Given the description of an element on the screen output the (x, y) to click on. 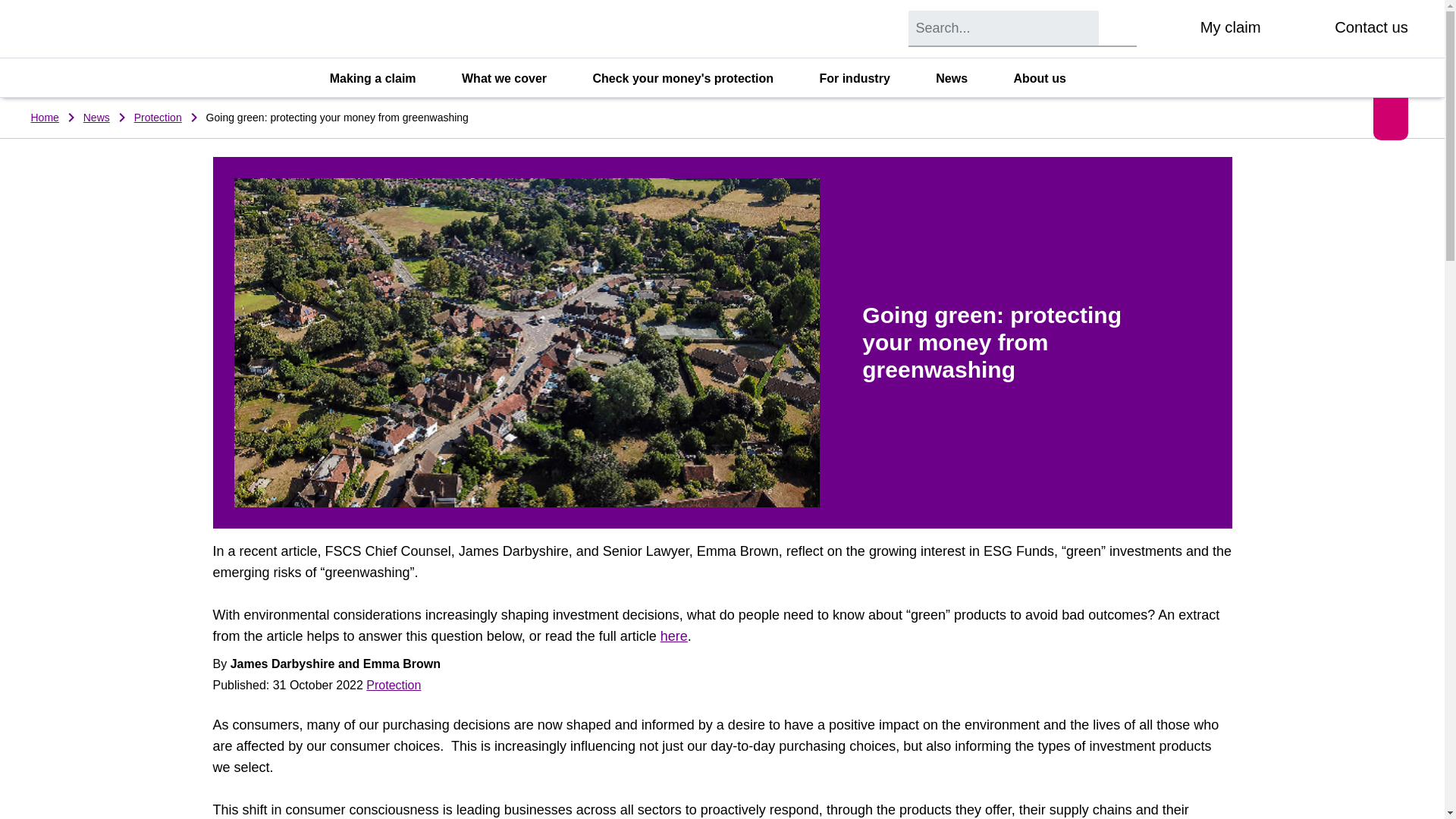
Account login My claim (1208, 28)
Share this page (1391, 118)
What we cover (513, 78)
Contact information (1307, 28)
Click to search (1120, 27)
Financial Services Compensation Scheme (153, 28)
Account login (1172, 28)
Contact information Contact us (1349, 28)
Making a claim (381, 78)
Skip to main content (10, 4)
